Given the description of an element on the screen output the (x, y) to click on. 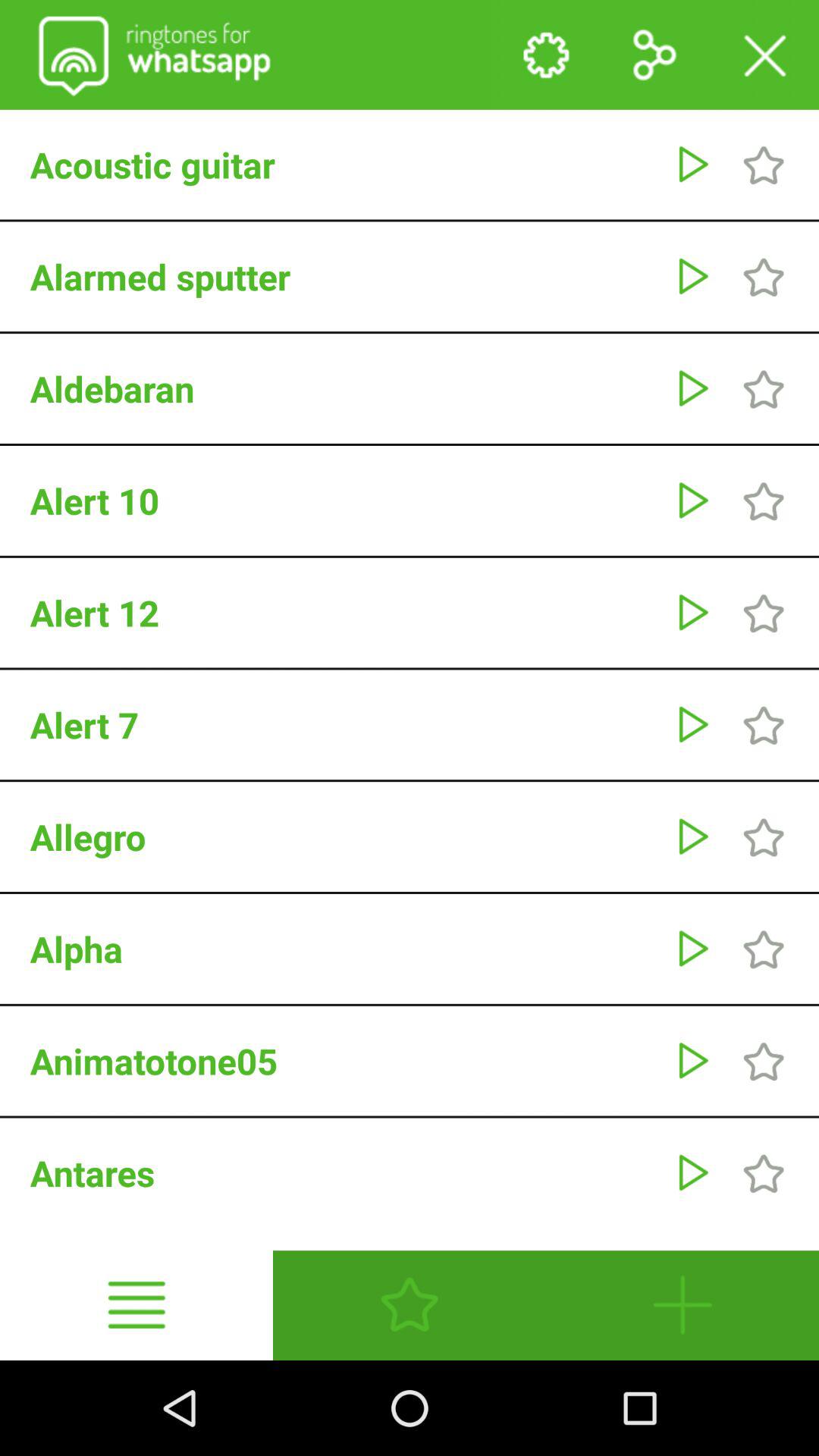
flip to the allegro app (344, 836)
